Given the description of an element on the screen output the (x, y) to click on. 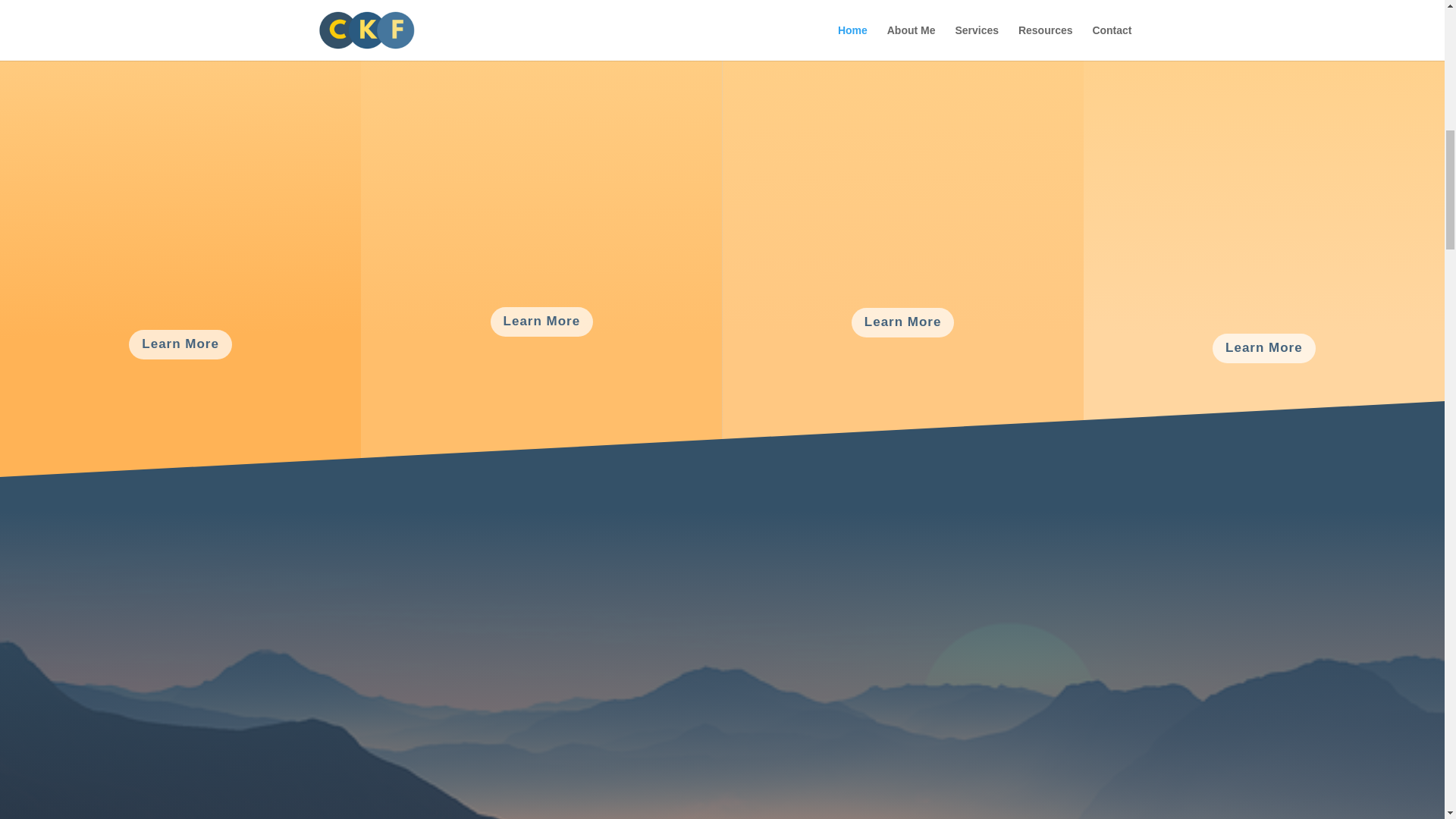
Learn More (542, 321)
Learn More (180, 344)
Learn More (903, 322)
Learn More (1264, 348)
